Given the description of an element on the screen output the (x, y) to click on. 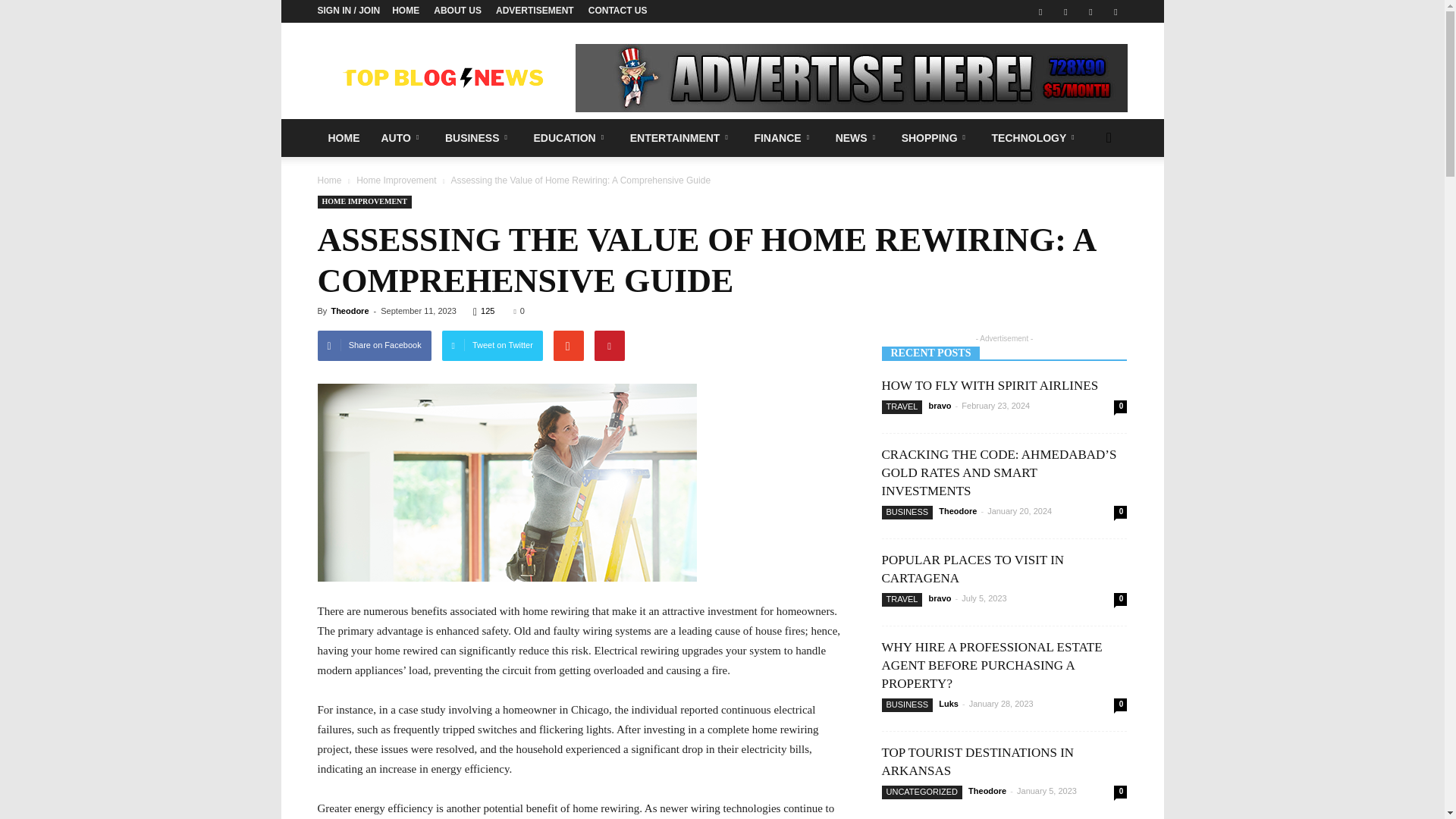
Youtube (1114, 11)
AUTO (401, 137)
HOME (405, 9)
ADVERTISEMENT (534, 9)
VKontakte (1090, 11)
ABOUT US (457, 9)
HOME (343, 137)
CONTACT US (617, 9)
Twitter (1065, 11)
Facebook (1040, 11)
